Given the description of an element on the screen output the (x, y) to click on. 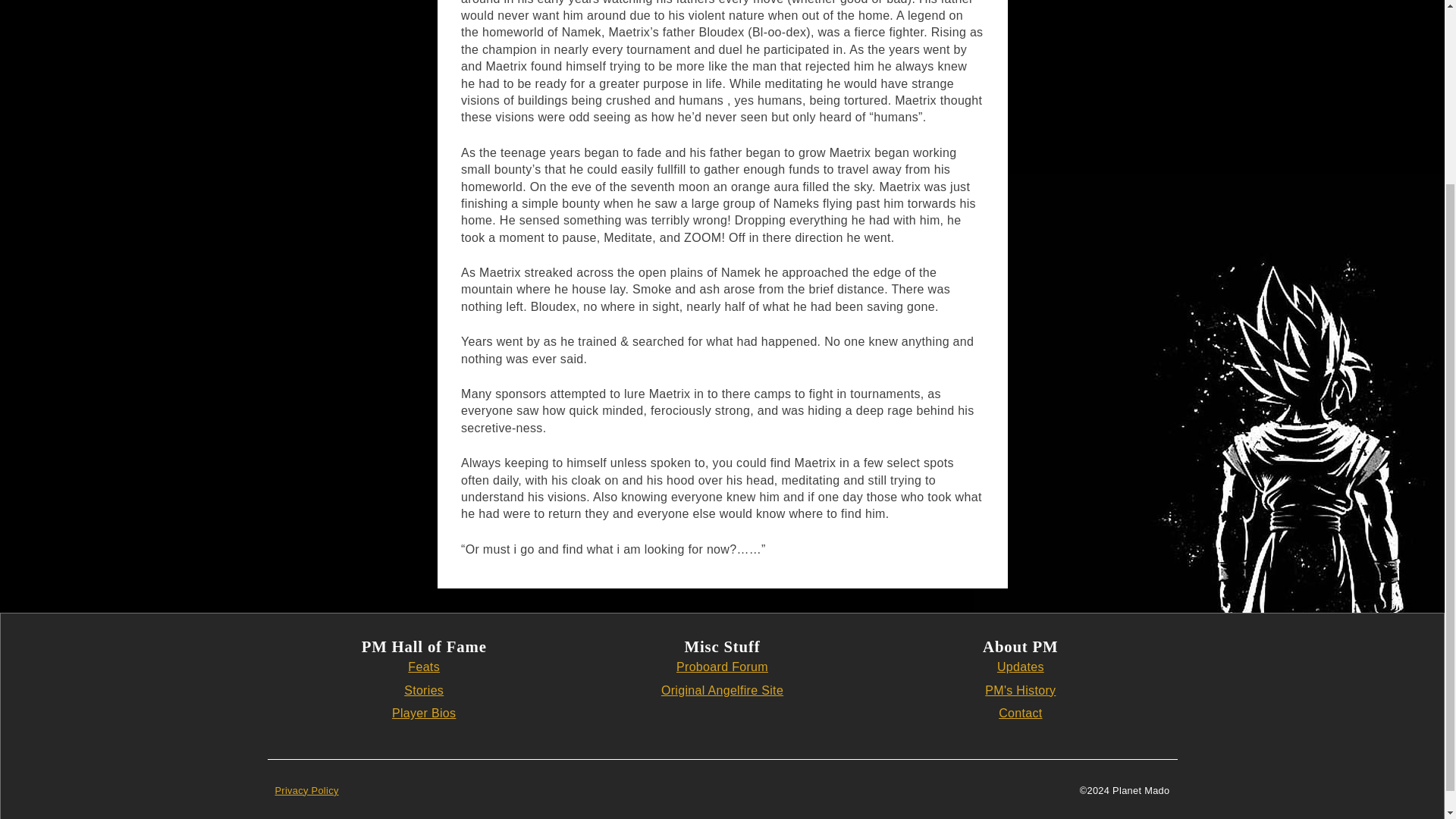
Feats (423, 666)
Stories (424, 689)
Player Bios (423, 712)
Original Angelfire Site (722, 689)
Proboard Forum (722, 666)
Updates (1020, 666)
PM's History (1020, 689)
Contact (1020, 712)
Privacy Policy (306, 790)
